Given the description of an element on the screen output the (x, y) to click on. 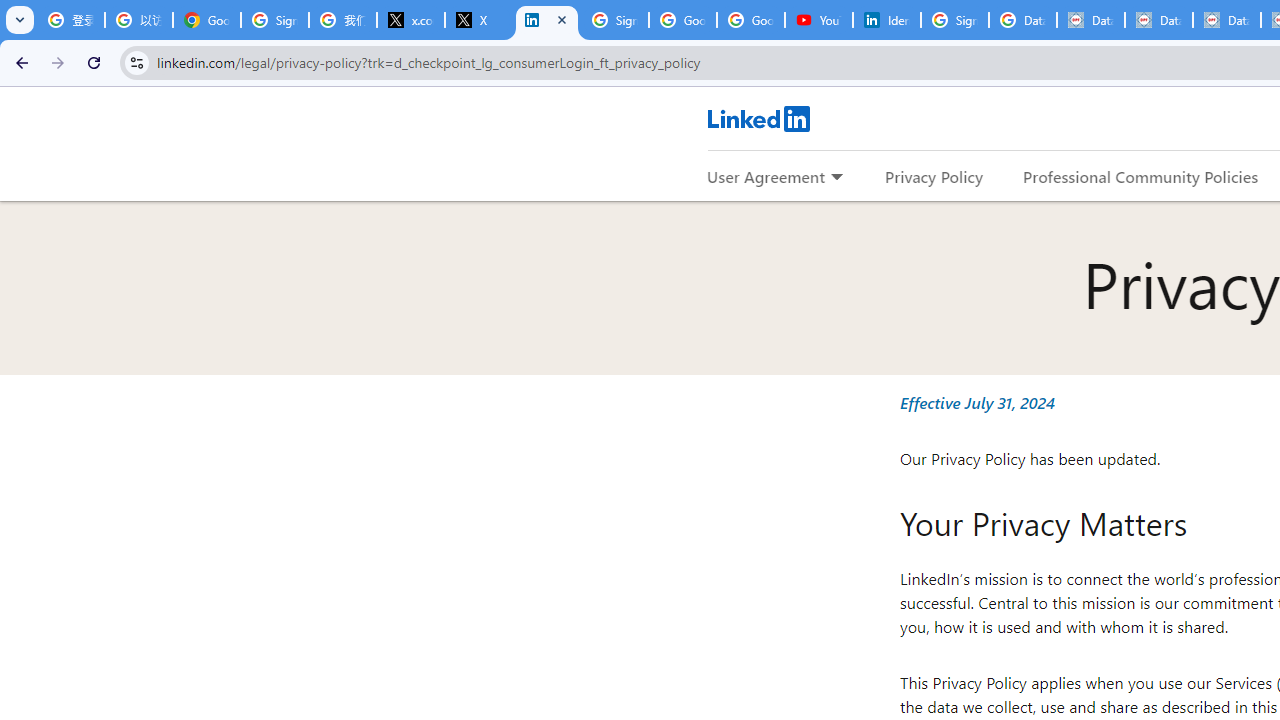
Sign in - Google Accounts (614, 20)
